Given the description of an element on the screen output the (x, y) to click on. 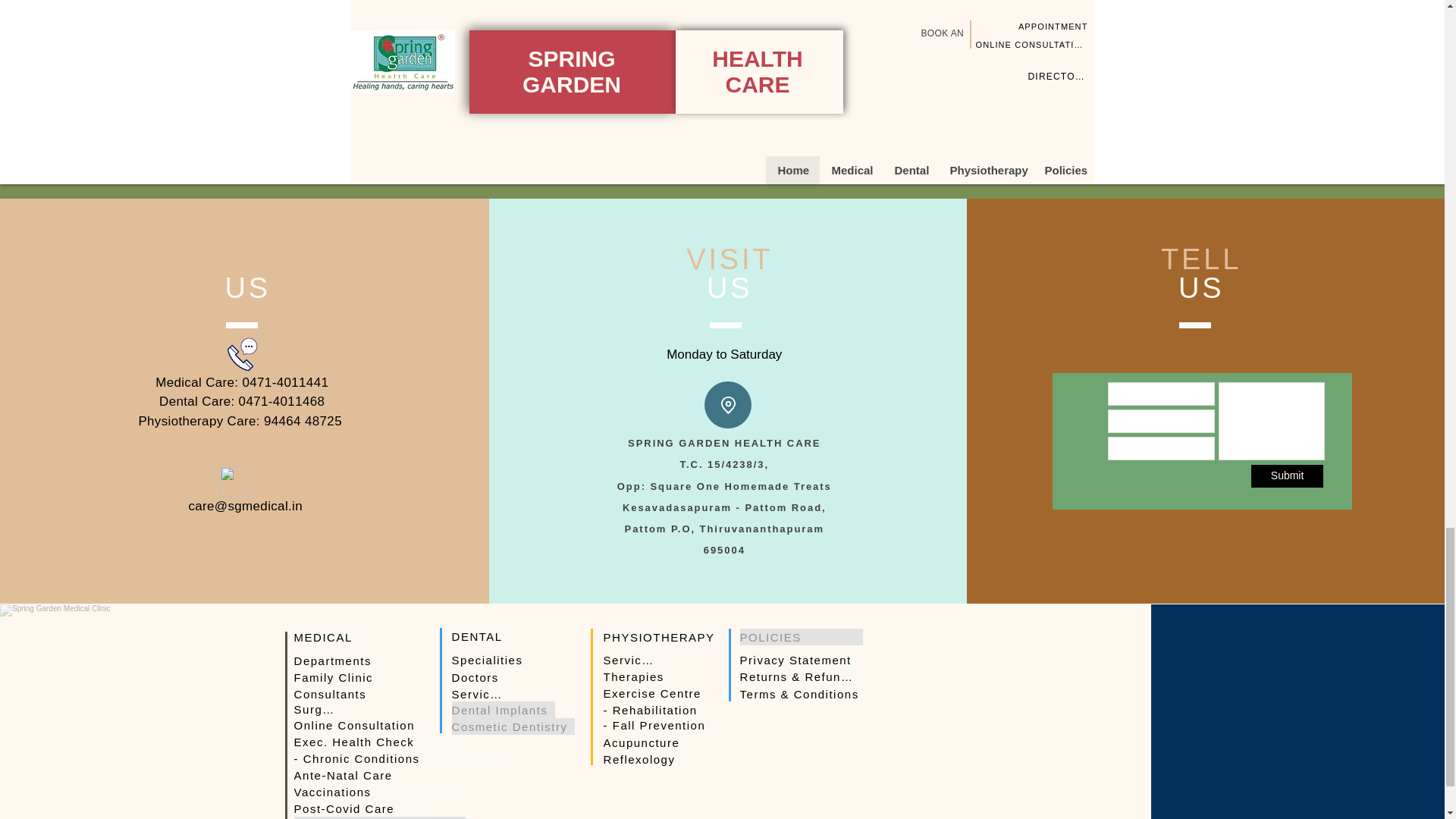
Consultants (333, 693)
- Chronic Conditions (398, 758)
Exec. Health Check (376, 741)
Ante-Natal Care (345, 774)
Family Clinic (336, 677)
DENTAL (481, 636)
Specialities (491, 659)
MEDICAL (326, 636)
Click to open map  (722, 31)
Cosmetic Dentistry (513, 726)
PHYSIOTHERAPY (665, 636)
Doctors (478, 677)
Dental Implants (502, 709)
Departments (336, 660)
Services (478, 693)
